Given the description of an element on the screen output the (x, y) to click on. 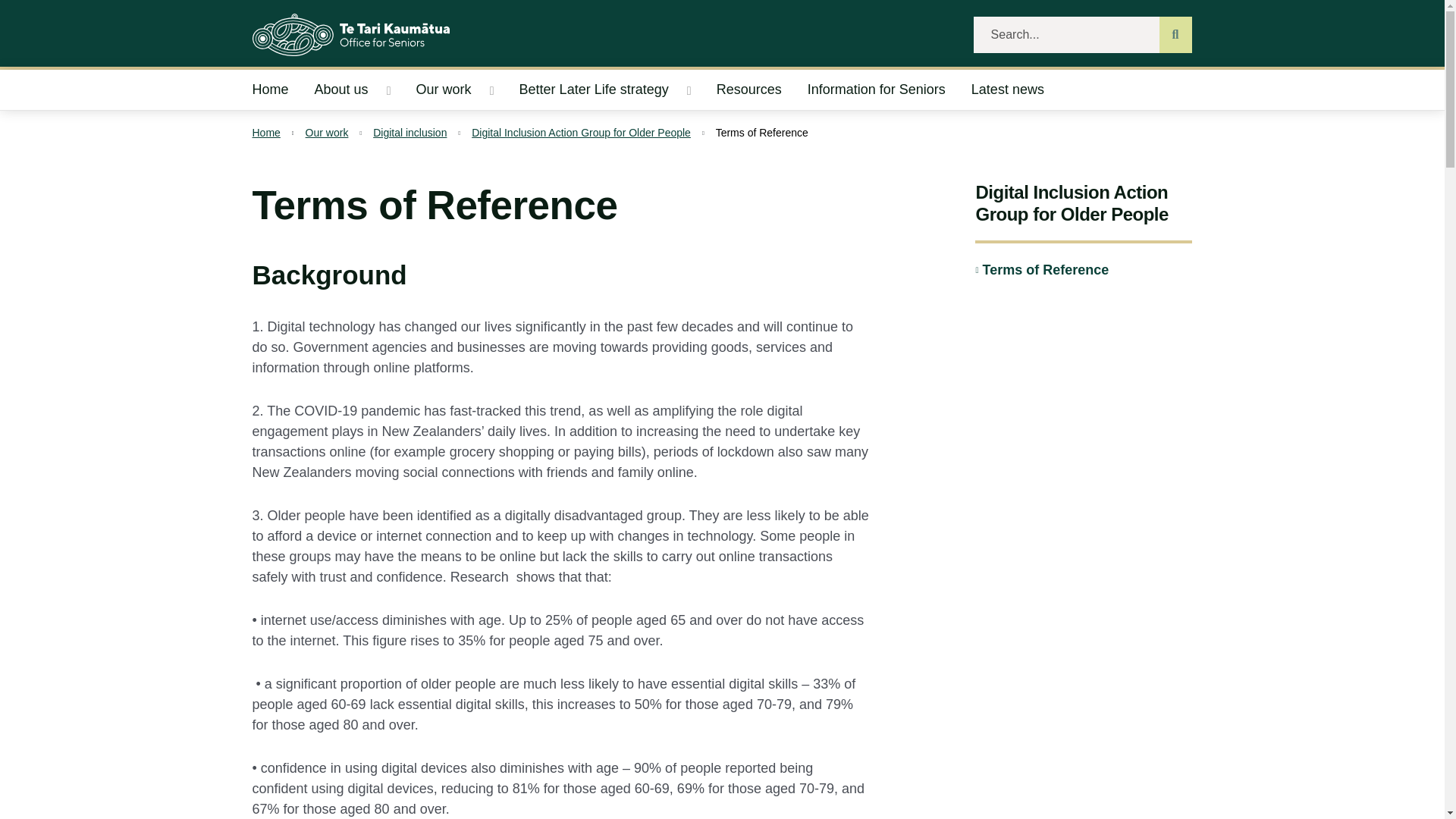
Home (265, 132)
Terms of Reference (1041, 270)
Digital inclusion (409, 132)
Submit search (1175, 34)
Show Better Later Life strategy submenu (689, 90)
About us (336, 89)
Better Later Life strategy (588, 89)
Home (276, 89)
Show Our work submenu (491, 90)
Digital Inclusion Action Group for Older People (580, 132)
Resources (748, 89)
Information for Seniors (876, 89)
Our work (438, 89)
Show About us submenu (388, 90)
Our work (327, 132)
